Given the description of an element on the screen output the (x, y) to click on. 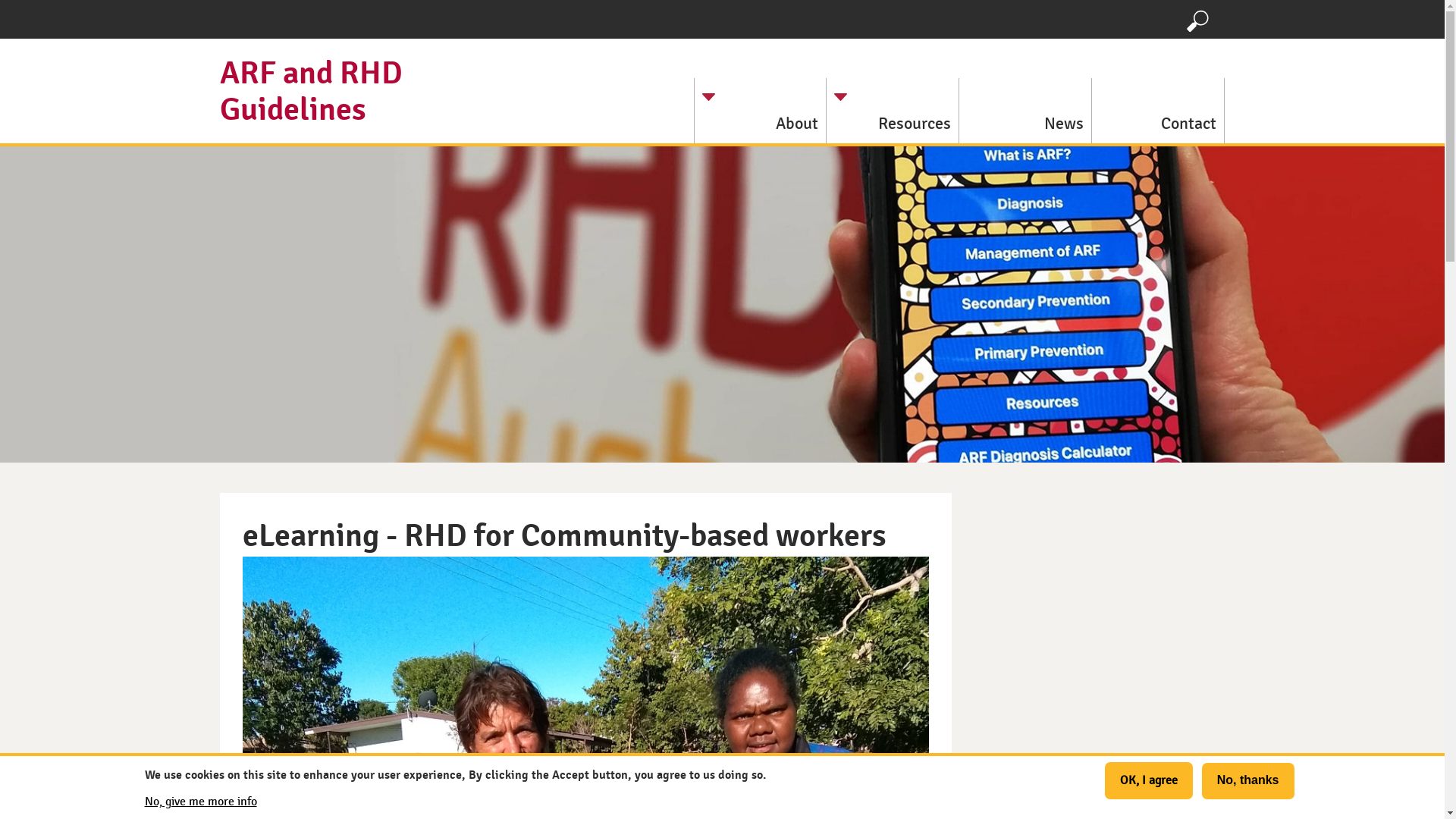
News Element type: text (1025, 110)
No, give me more info Element type: text (200, 801)
Search Element type: text (1197, 19)
No, thanks Element type: text (1247, 780)
Contact Element type: text (1158, 110)
ARF and RHD
Guidelines Element type: text (310, 90)
OK, I agree Element type: text (1148, 780)
Skip to main content Element type: text (59, 0)
